Given the description of an element on the screen output the (x, y) to click on. 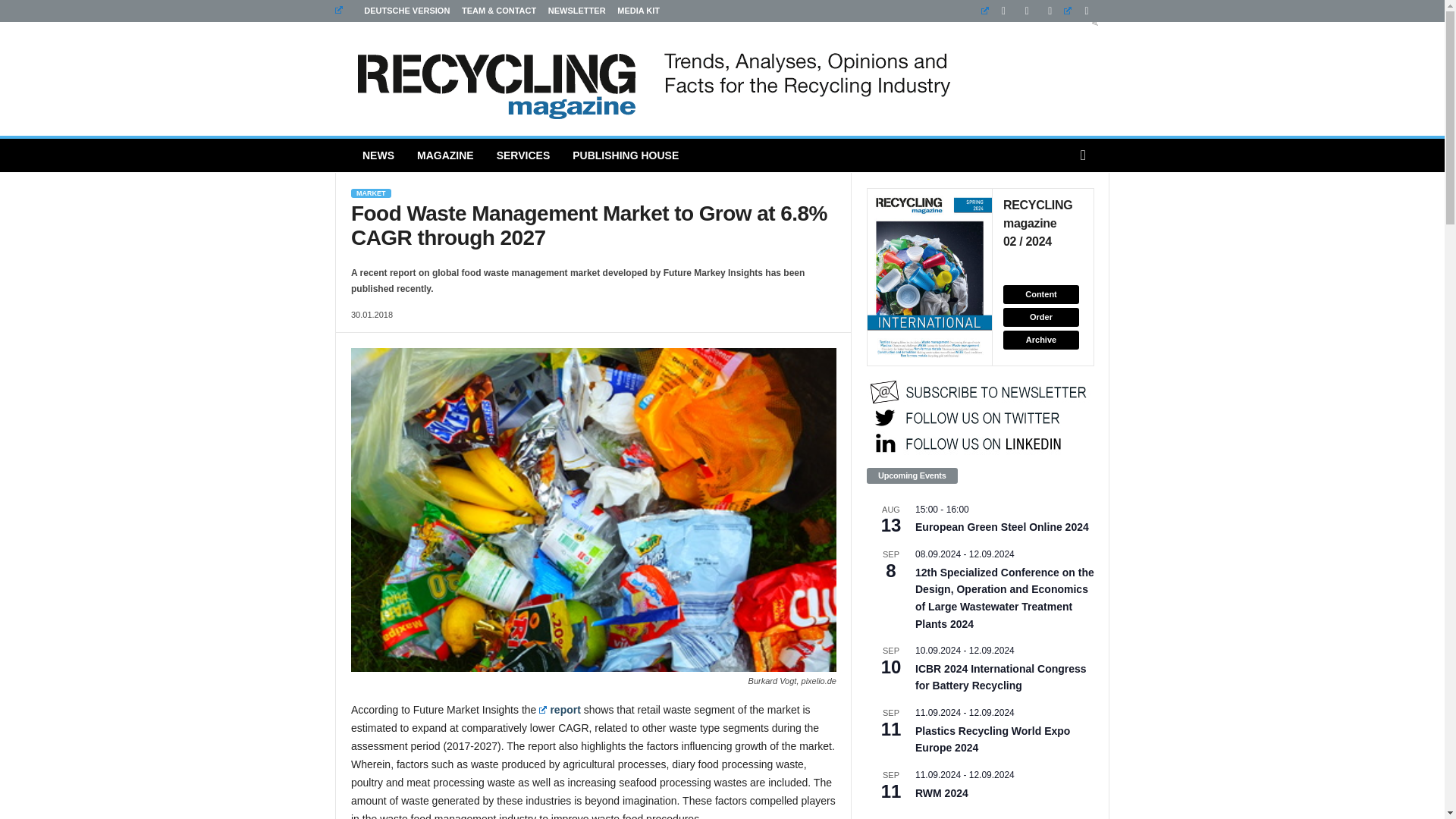
DEUTSCHE VERSION (391, 10)
MEDIA KIT (638, 10)
NEWSLETTER (576, 10)
Linkedin (997, 11)
Twitter (1080, 11)
